Given the description of an element on the screen output the (x, y) to click on. 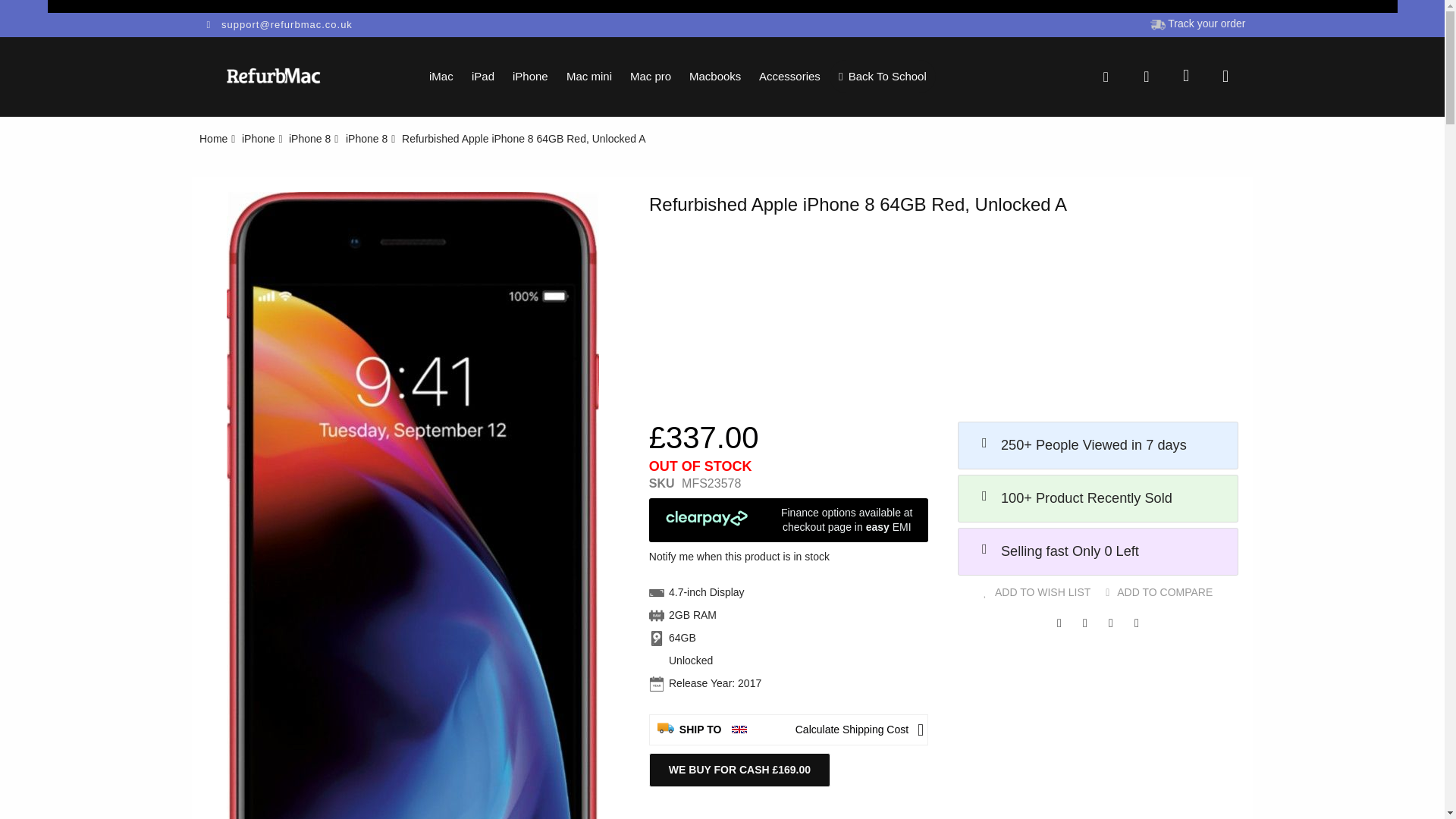
iPhone 8 (309, 138)
iPhone 8 (366, 138)
iPad (483, 76)
iPhone 8 (309, 138)
Mac mini (589, 76)
Share on Facebook (1059, 622)
Mac pro (650, 76)
Pin this (1136, 622)
Notify me when this product is in stock (739, 556)
iMac (441, 76)
